Given the description of an element on the screen output the (x, y) to click on. 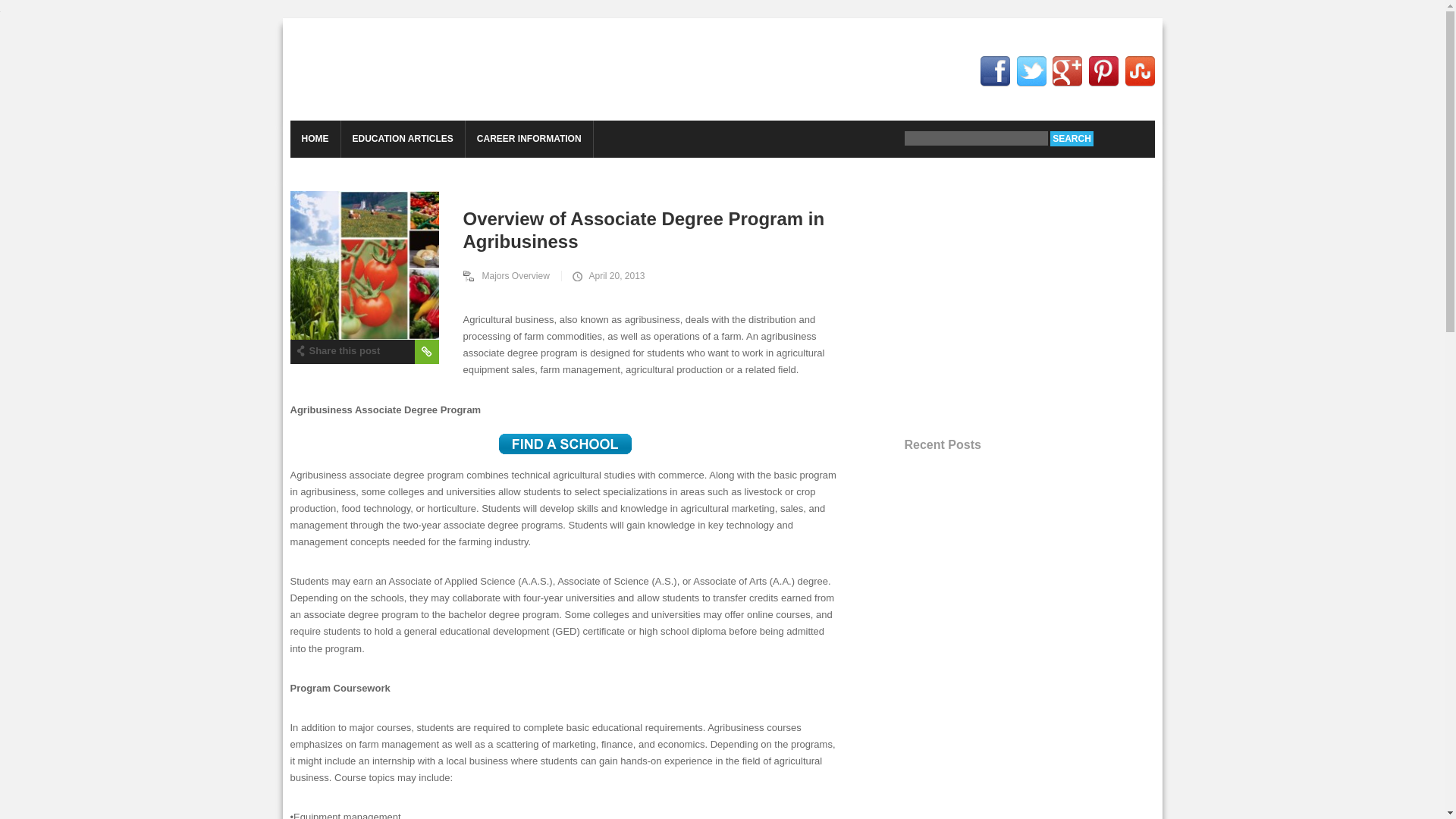
Education Career Articles (406, 69)
April 20, 2013 (607, 276)
Majors Overview (511, 276)
Share this post (336, 349)
Permalink (425, 351)
Search (1071, 138)
Education Career Articles (406, 69)
EDUCATION ARTICLES (402, 139)
Overview of Associate Degree Program in Agribusiness (572, 228)
CAREER INFORMATION (528, 139)
HOME (314, 139)
12:00 PM (607, 276)
